Given the description of an element on the screen output the (x, y) to click on. 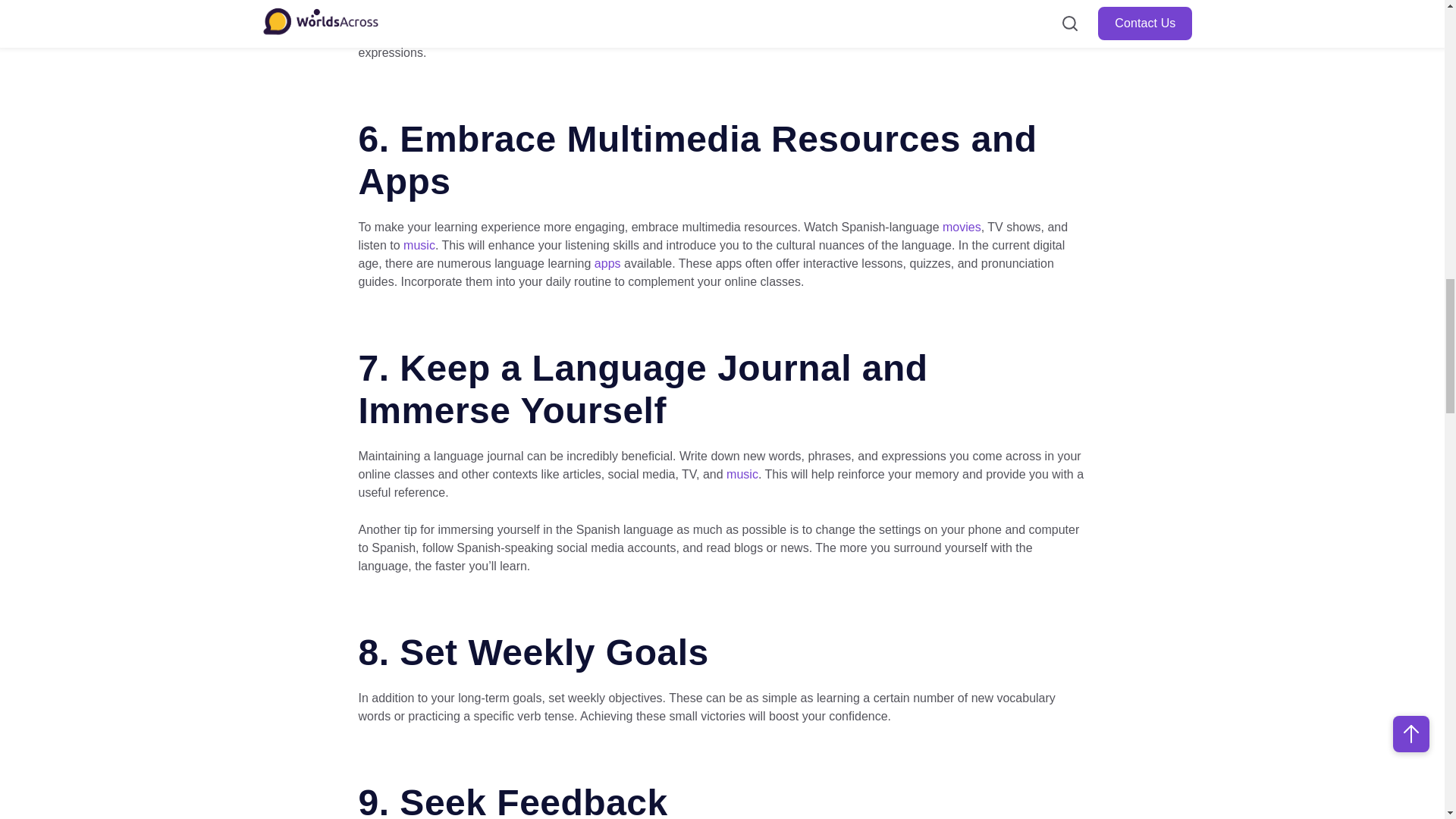
music (742, 473)
apps (607, 263)
music (419, 245)
movies (961, 226)
